Given the description of an element on the screen output the (x, y) to click on. 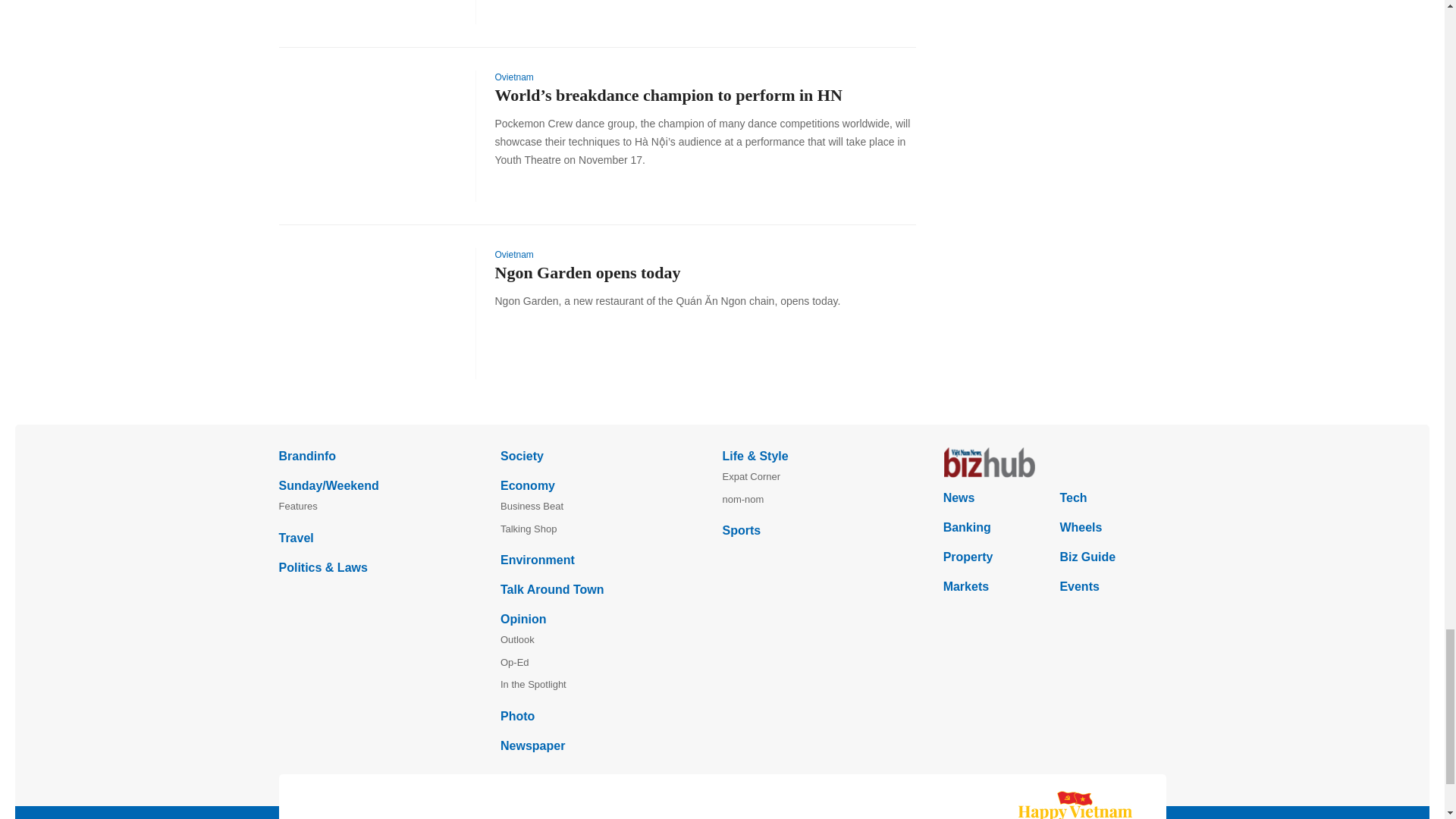
bizhub (1054, 462)
